Given the description of an element on the screen output the (x, y) to click on. 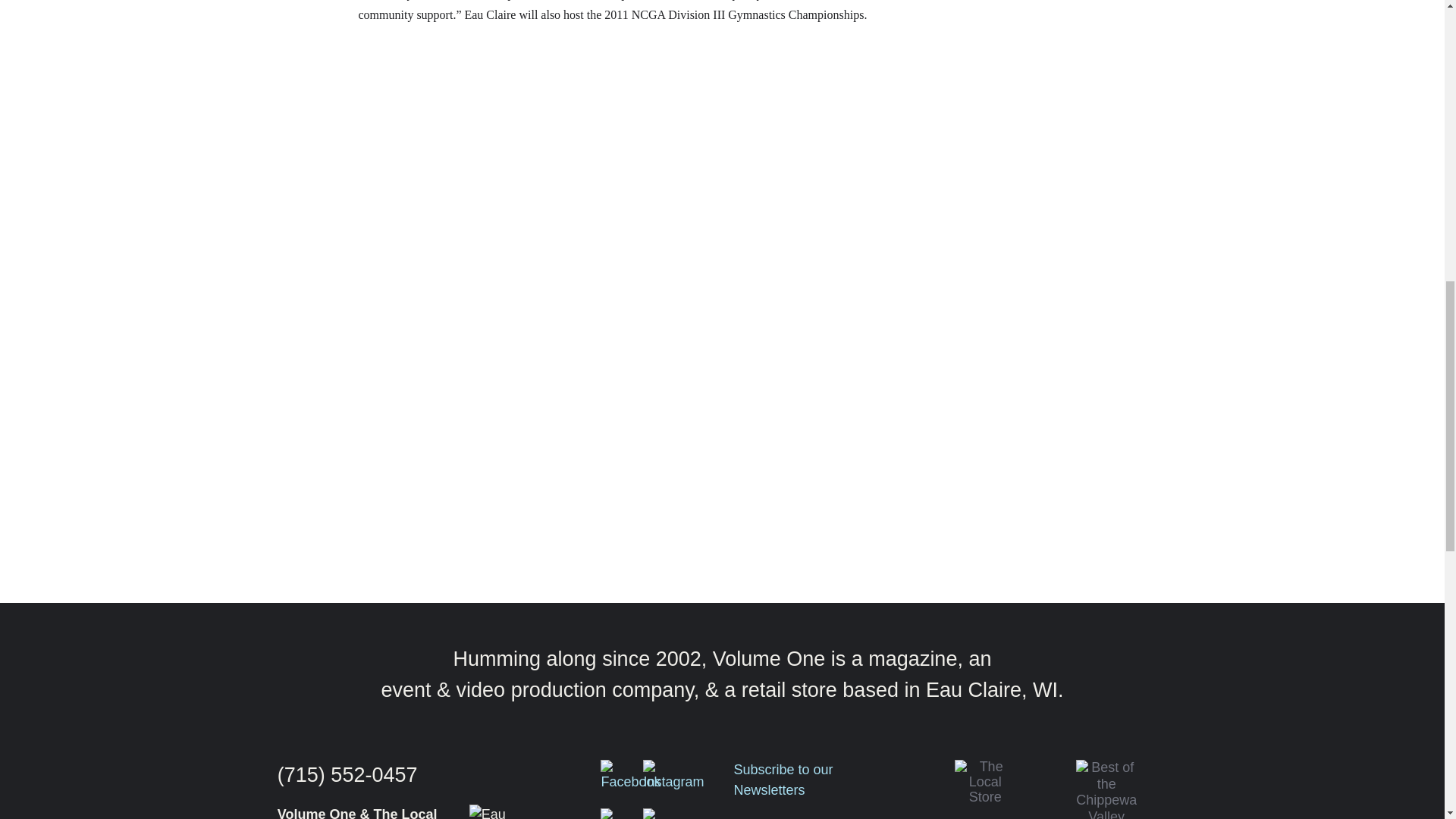
3rd party ad content (1077, 268)
3rd party ad content (1077, 79)
3rd party ad content (1077, 473)
